Given the description of an element on the screen output the (x, y) to click on. 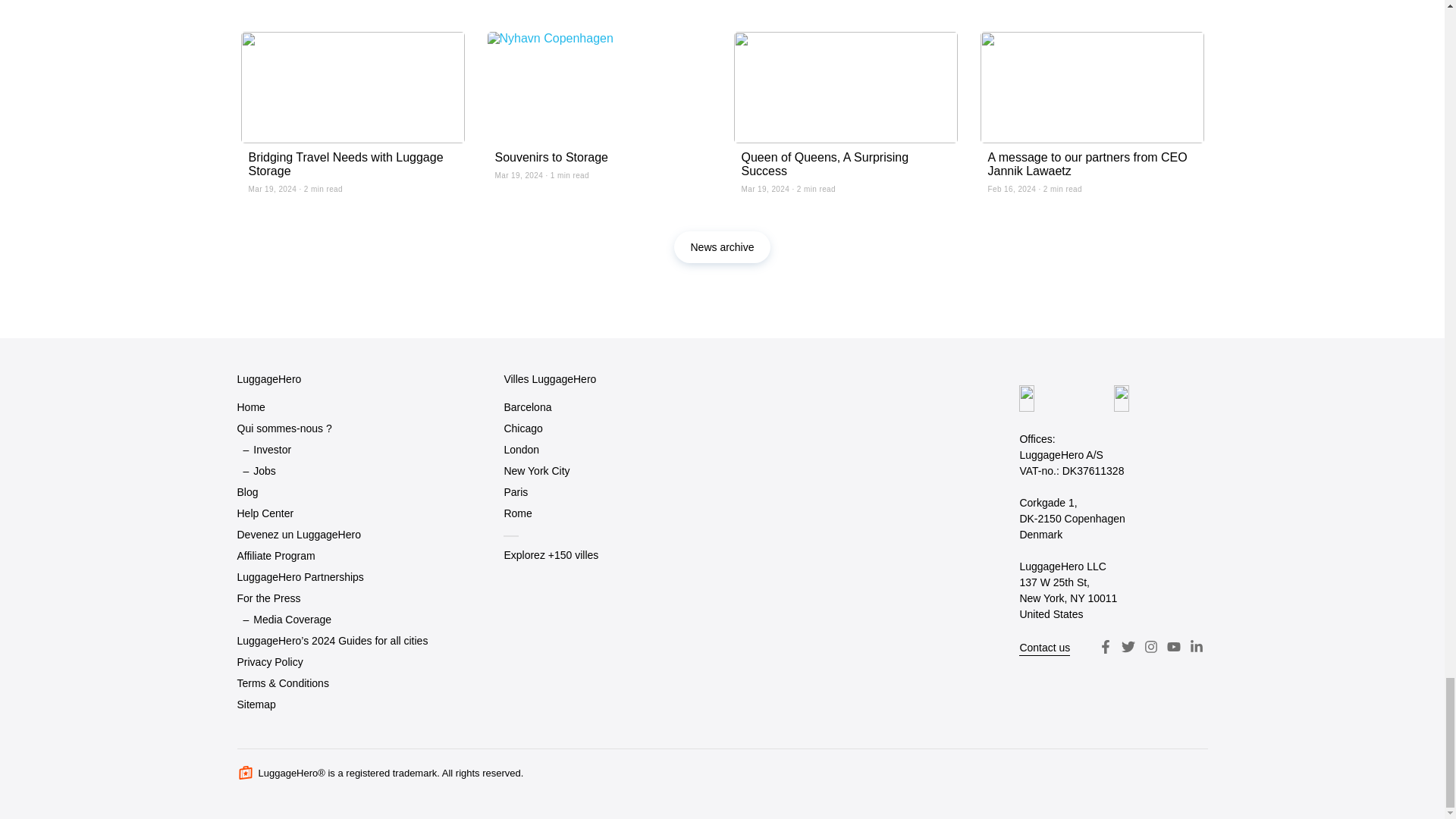
LuggageHero Partnerships (298, 577)
Devenez un LuggageHero (297, 534)
Jobs (264, 470)
News archive (722, 246)
Affiliate Program (274, 556)
Media Coverage (292, 619)
Blog (246, 492)
Help Center (264, 513)
Qui sommes-nous ? (283, 428)
Investor (272, 449)
